Given the description of an element on the screen output the (x, y) to click on. 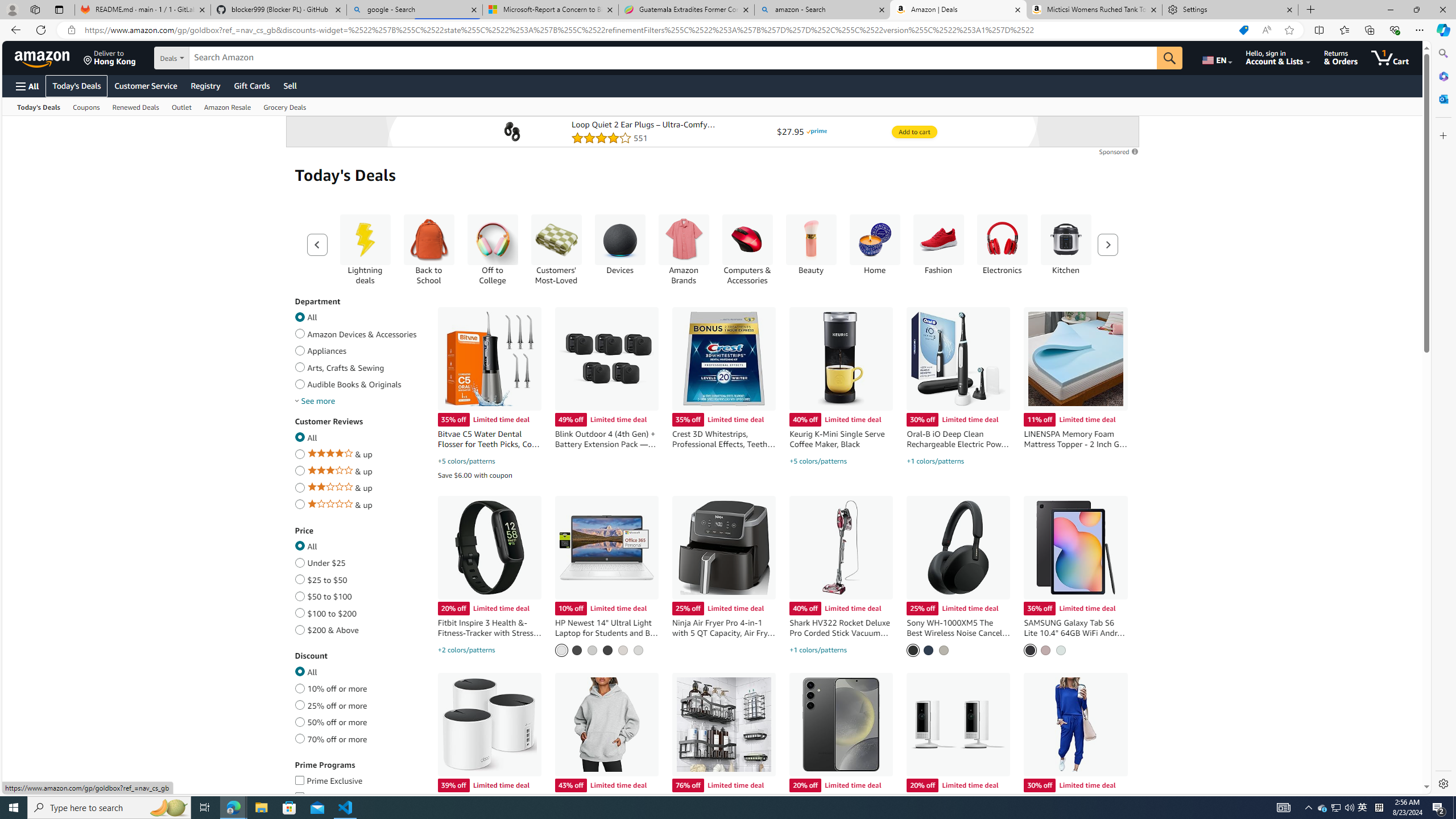
Electronics Electronics (1002, 244)
Keurig K-Mini Single Serve Coffee Maker, Black (841, 359)
Back to School (428, 249)
$50 to $100 (299, 593)
Gold (621, 649)
Prime Early Access (299, 794)
Black (913, 649)
amazon - Search (822, 9)
